Given the description of an element on the screen output the (x, y) to click on. 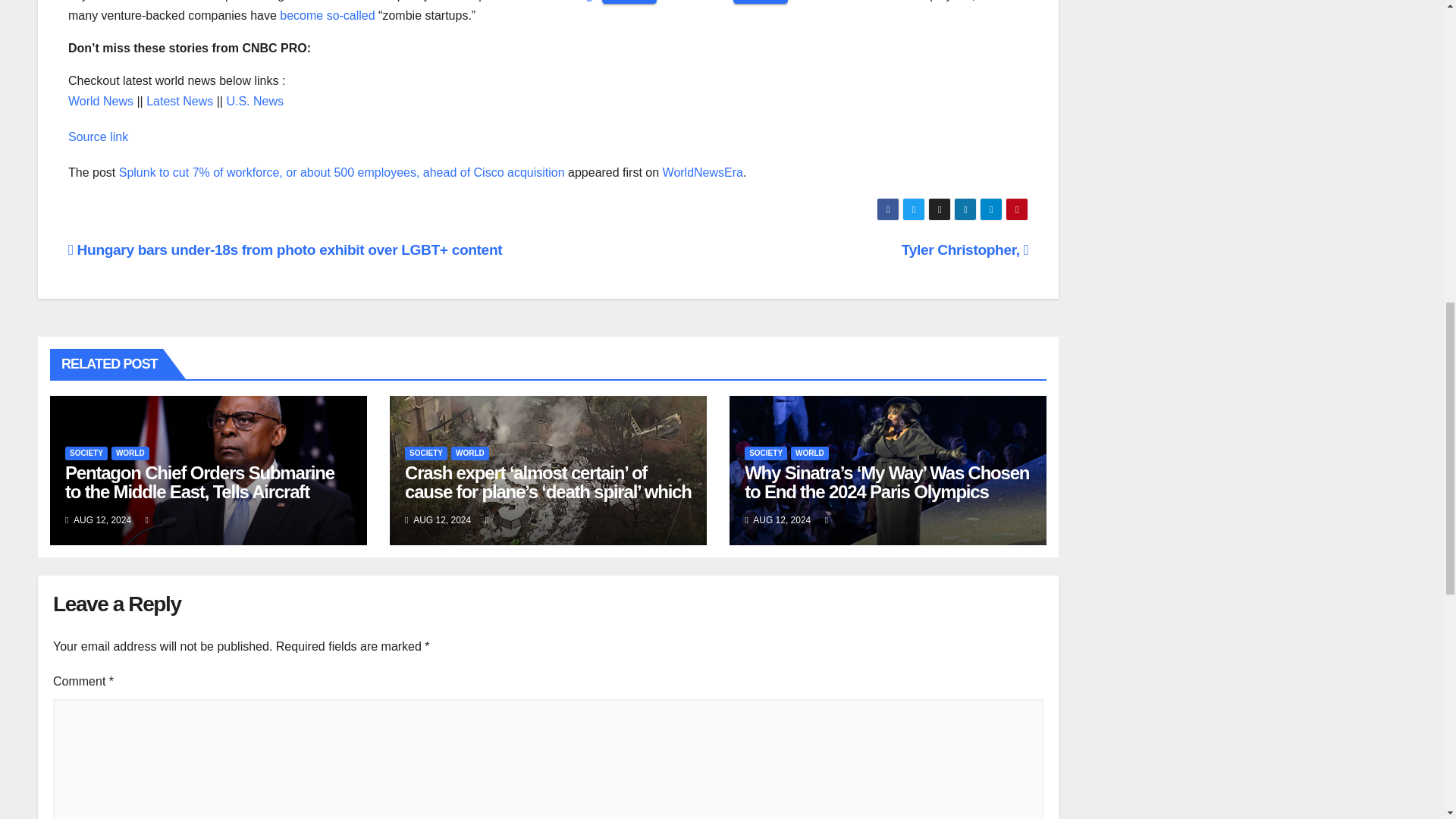
Google (582, 0)
become so-called (326, 15)
WorldNewsEra (702, 172)
World News (100, 101)
Source link (98, 136)
U.S. News (254, 101)
Latest News (179, 101)
Microsoft (708, 0)
